Given the description of an element on the screen output the (x, y) to click on. 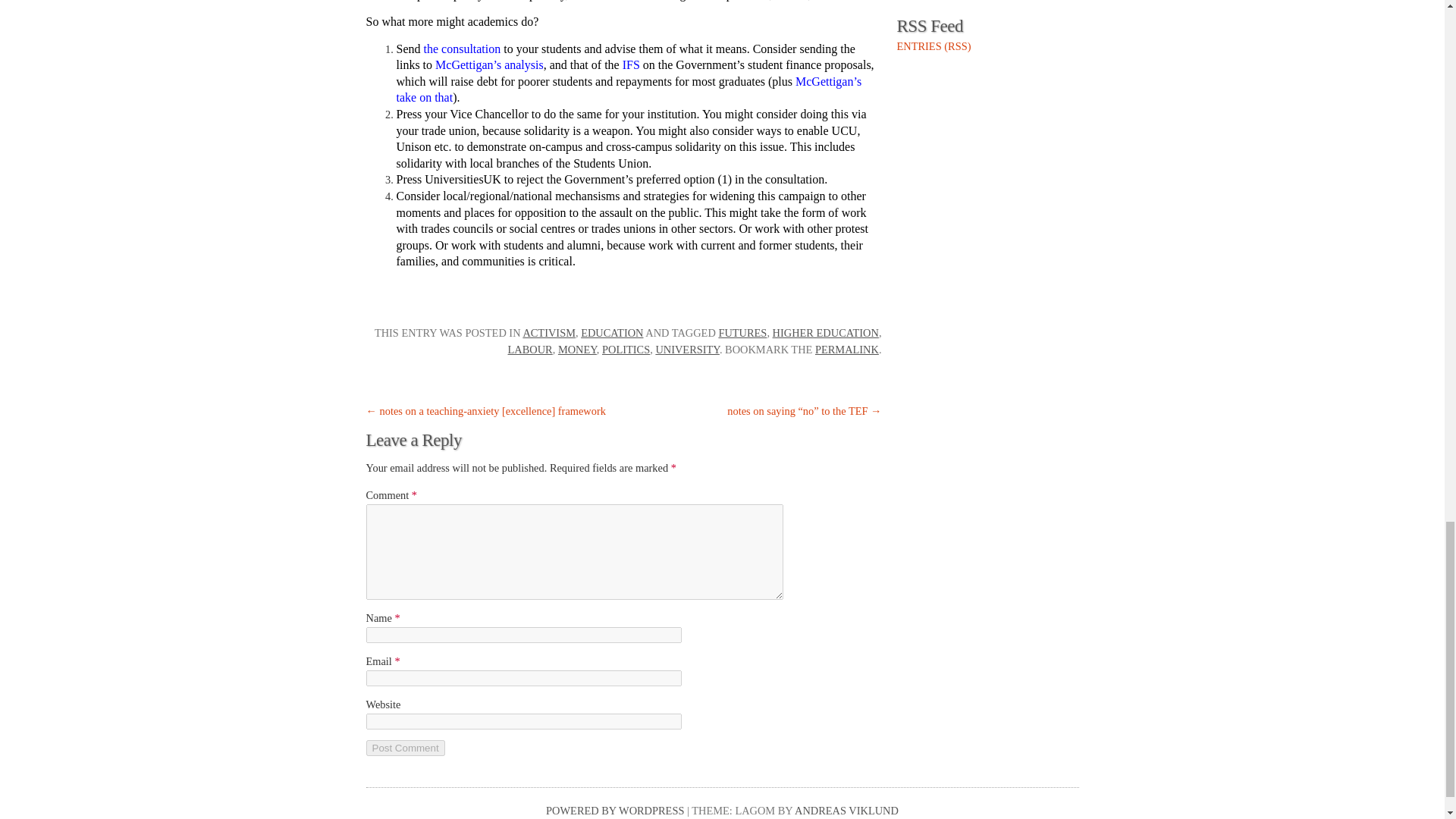
MONEY (576, 349)
LABOUR (530, 349)
IFS (631, 64)
HIGHER EDUCATION (826, 332)
FUTURES (742, 332)
the consultation (461, 48)
POLITICS (625, 349)
UNIVERSITY (687, 349)
PERMALINK (847, 349)
